Given the description of an element on the screen output the (x, y) to click on. 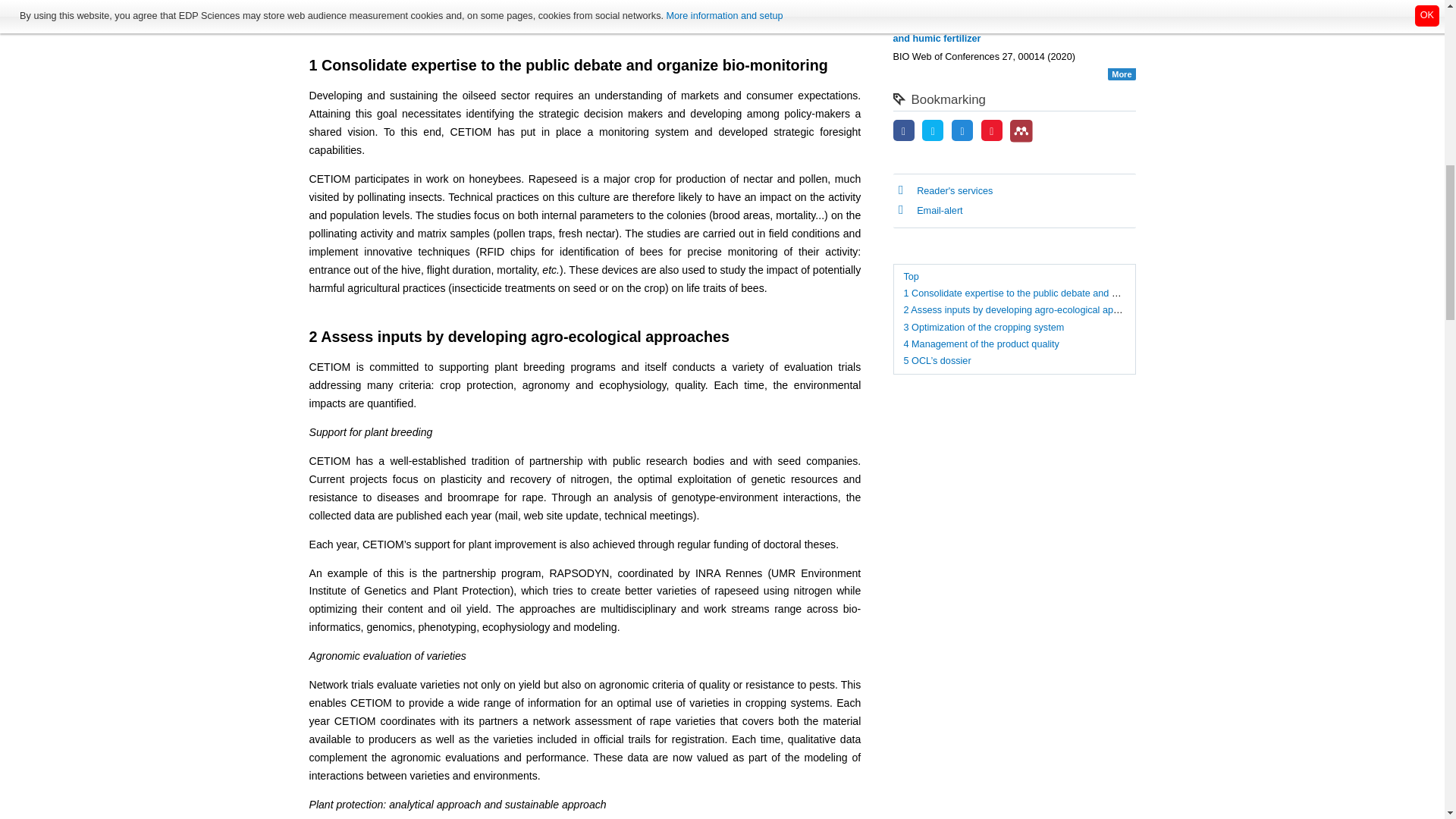
Share on Twitter (932, 131)
Share on Facebook (903, 131)
Mendeley (1021, 130)
Share on Sina Weibo (992, 131)
Share on LinkedIn (962, 131)
